Given the description of an element on the screen output the (x, y) to click on. 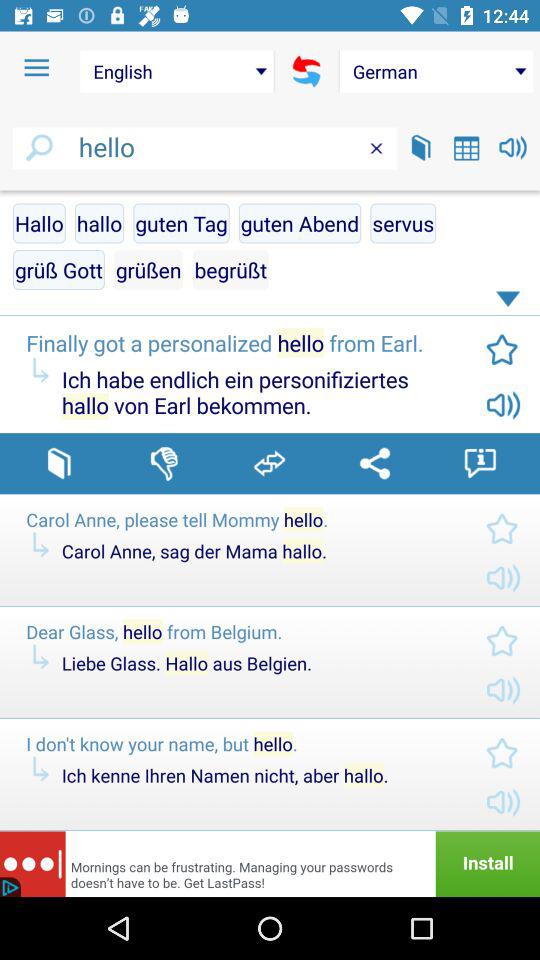
refresh the screen option (306, 71)
